Given the description of an element on the screen output the (x, y) to click on. 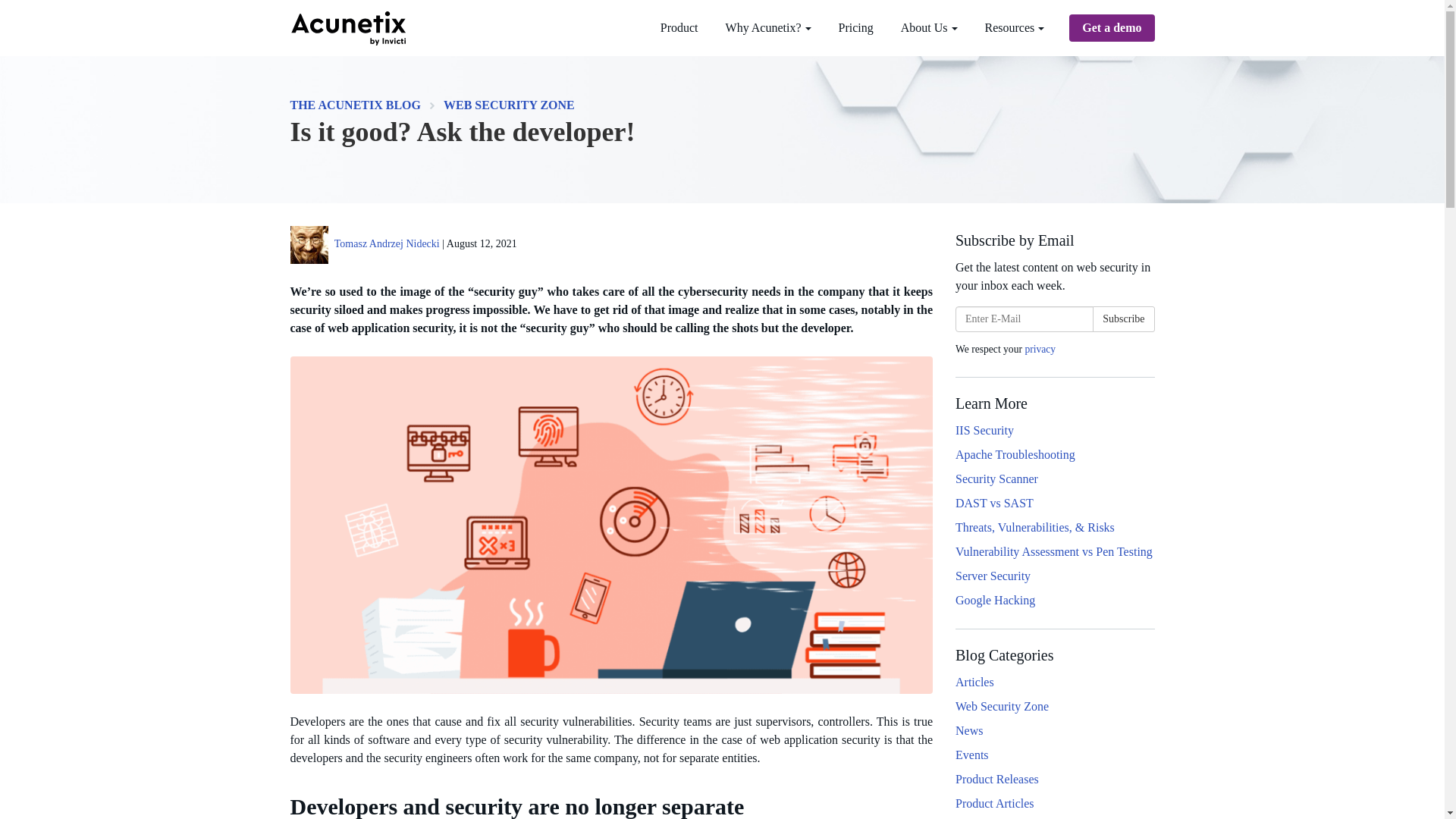
THE ACUNETIX BLOG (354, 105)
Get a demo (1111, 27)
Product (678, 28)
WEB SECURITY ZONE (509, 105)
Subscribe (1123, 319)
Resources (1014, 28)
Why Acunetix? (768, 28)
Pricing (855, 28)
Is it good? Ask the developer! (461, 132)
View all posts by Tomasz Andrzej Nidecki (386, 243)
Tomasz Andrzej Nidecki (386, 243)
About Us (928, 28)
